Given the description of an element on the screen output the (x, y) to click on. 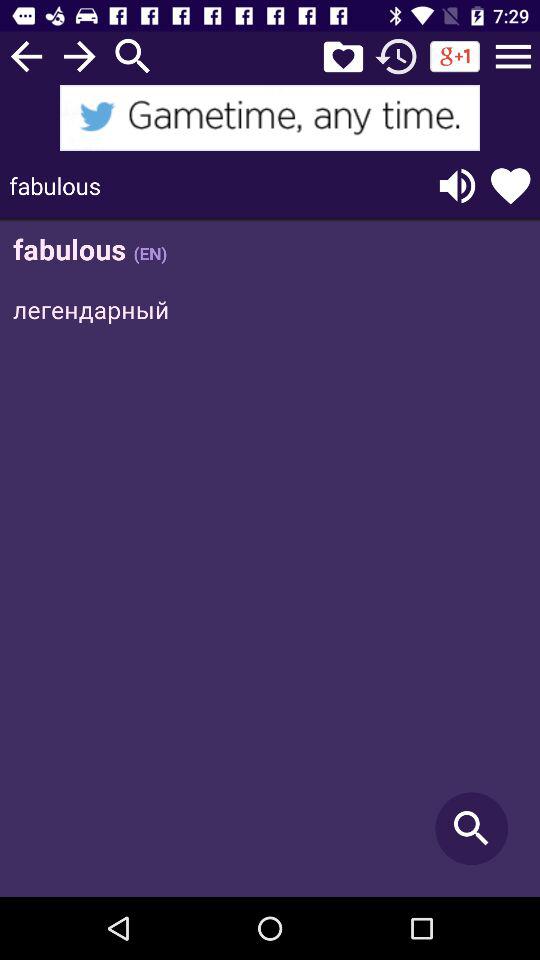
interact with advertisement (270, 117)
